Given the description of an element on the screen output the (x, y) to click on. 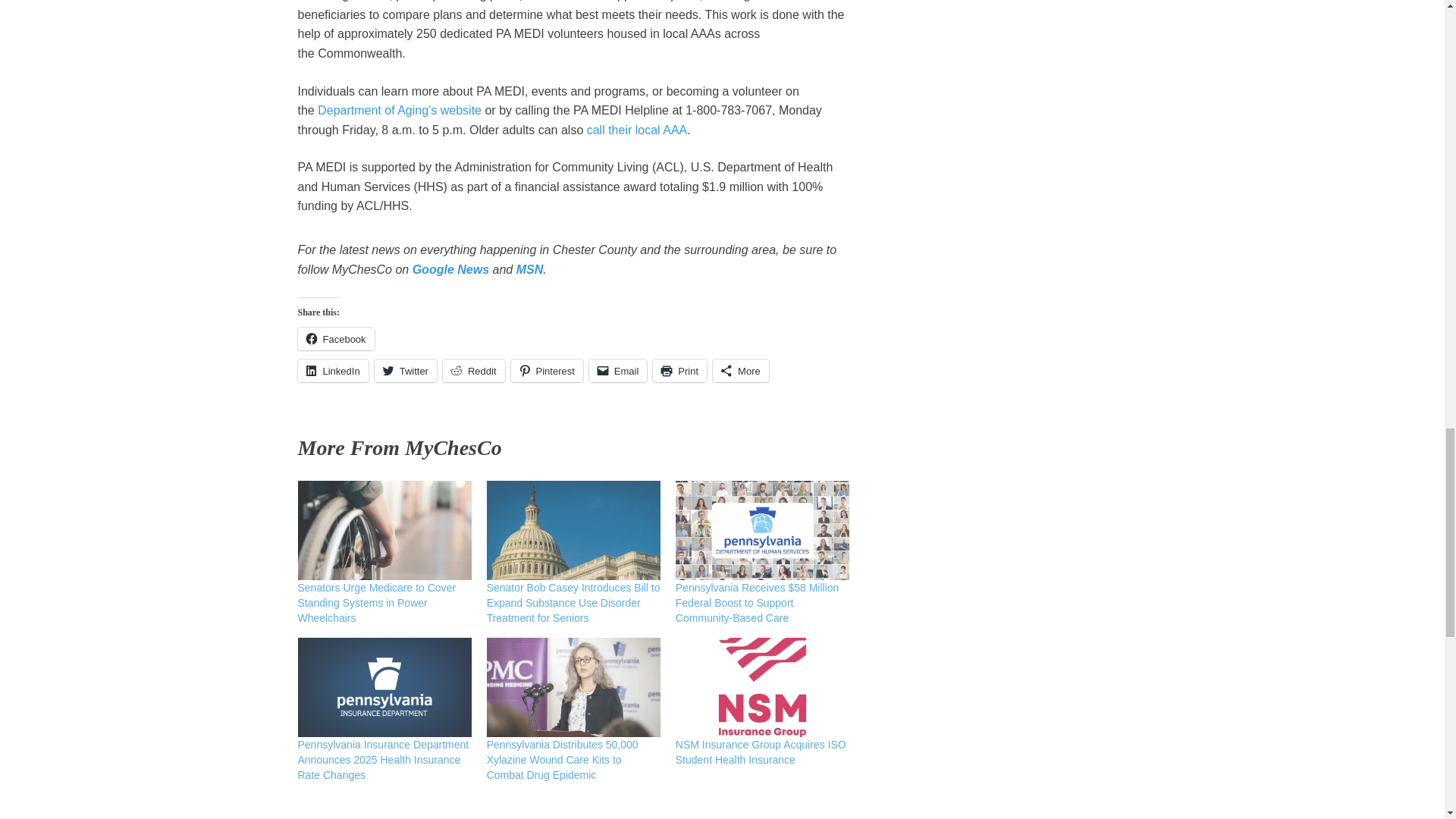
Click to share on Facebook (335, 338)
Click to print (679, 370)
Click to share on LinkedIn (332, 370)
Click to share on Reddit (473, 370)
Click to share on Pinterest (547, 370)
Click to share on Twitter (405, 370)
Click to email a link to a friend (618, 370)
